Given the description of an element on the screen output the (x, y) to click on. 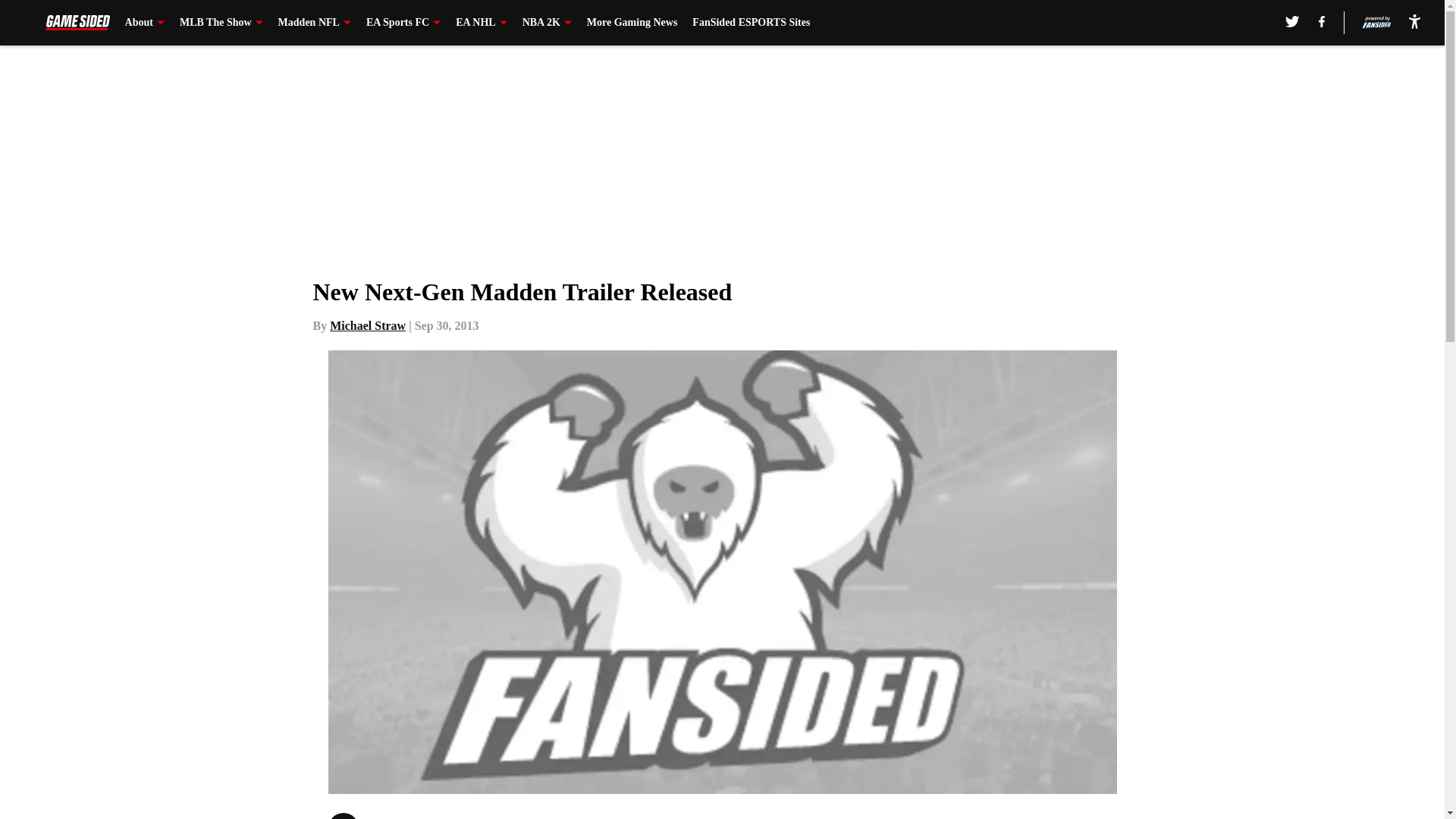
More Gaming News (632, 22)
FanSided ESPORTS Sites (751, 22)
Michael Straw (368, 325)
